Given the description of an element on the screen output the (x, y) to click on. 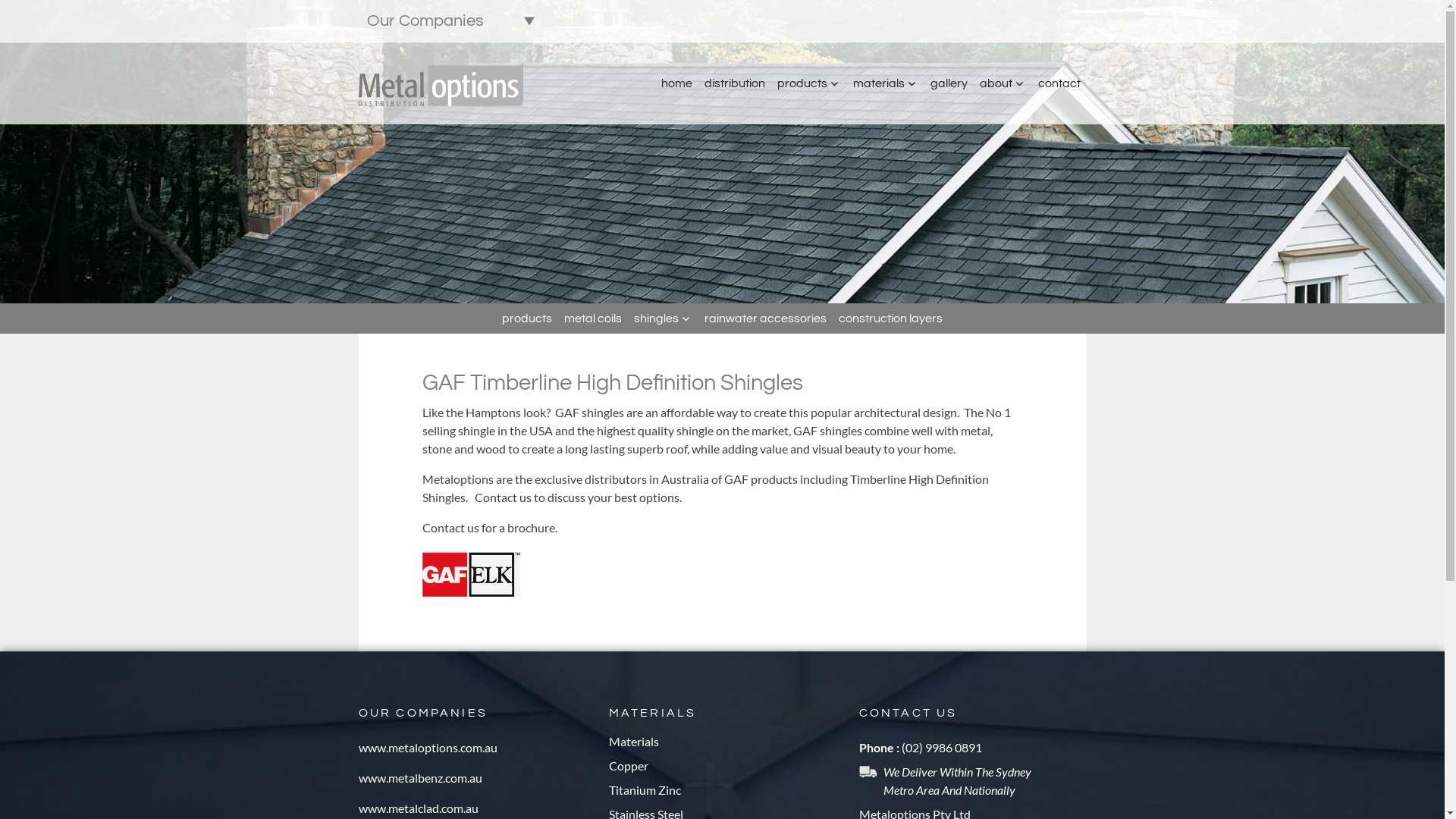
gallery Element type: text (947, 83)
distribution Element type: text (733, 83)
about Element type: text (1002, 83)
Copper Element type: text (627, 765)
products Element type: text (526, 318)
www.metaloptions.com.au Element type: text (426, 747)
(02) 9986 0891 Element type: text (940, 747)
www.metalclad.com.au Element type: text (417, 807)
www.metalbenz.com.au Element type: text (419, 777)
products Element type: text (808, 83)
metal coils Element type: text (592, 318)
Materials Element type: text (633, 741)
contact Element type: text (1058, 83)
Titanium Zinc Element type: text (644, 789)
rainwater accessories Element type: text (765, 318)
Our Companies Element type: text (449, 20)
home Element type: text (676, 83)
shingles Element type: text (662, 318)
Return to homepage Element type: hover (440, 83)
materials Element type: text (884, 83)
construction layers Element type: text (890, 318)
